Given the description of an element on the screen output the (x, y) to click on. 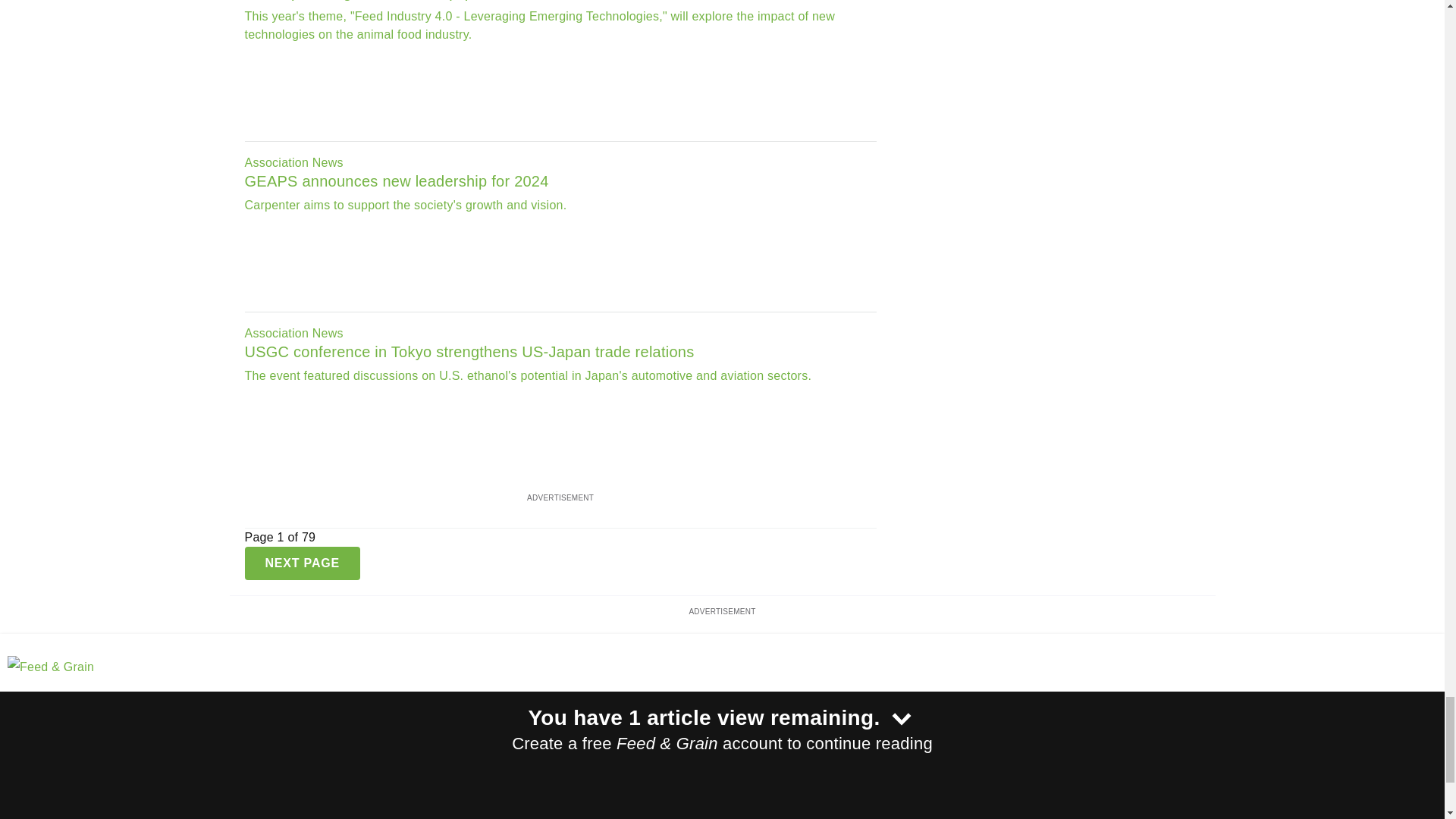
YouTube icon (90, 738)
LinkedIn icon (52, 738)
Facebook icon (13, 738)
